Given the description of an element on the screen output the (x, y) to click on. 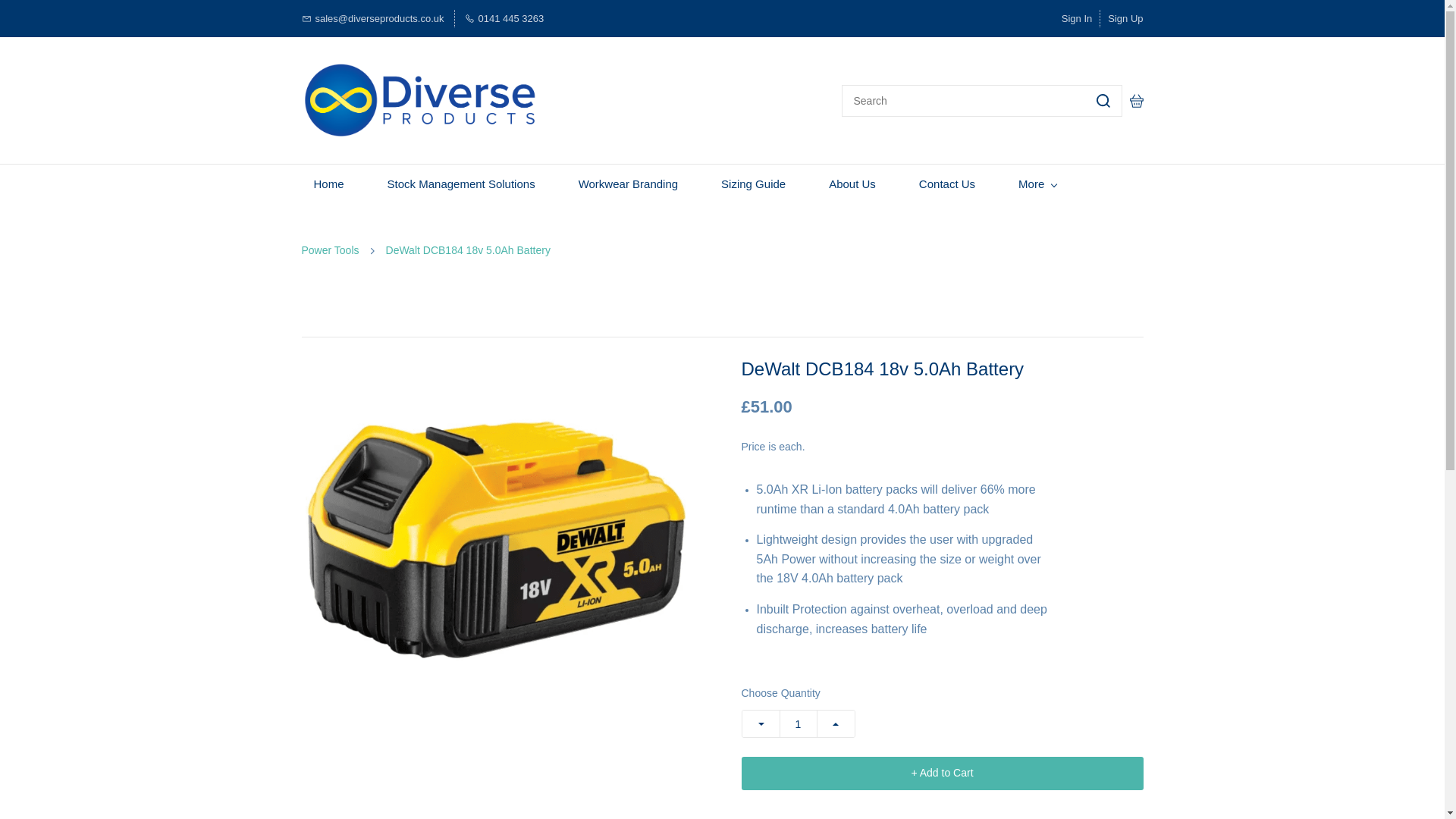
Sign In (1076, 18)
DeWalt DCB184 18v 5.0Ah Battery (467, 250)
Power Tools (330, 250)
quantity (797, 723)
Home (328, 183)
Stock Management Solutions (461, 183)
About Us (852, 183)
Workwear Branding (628, 183)
More (1037, 183)
Contact Us (947, 183)
